Given the description of an element on the screen output the (x, y) to click on. 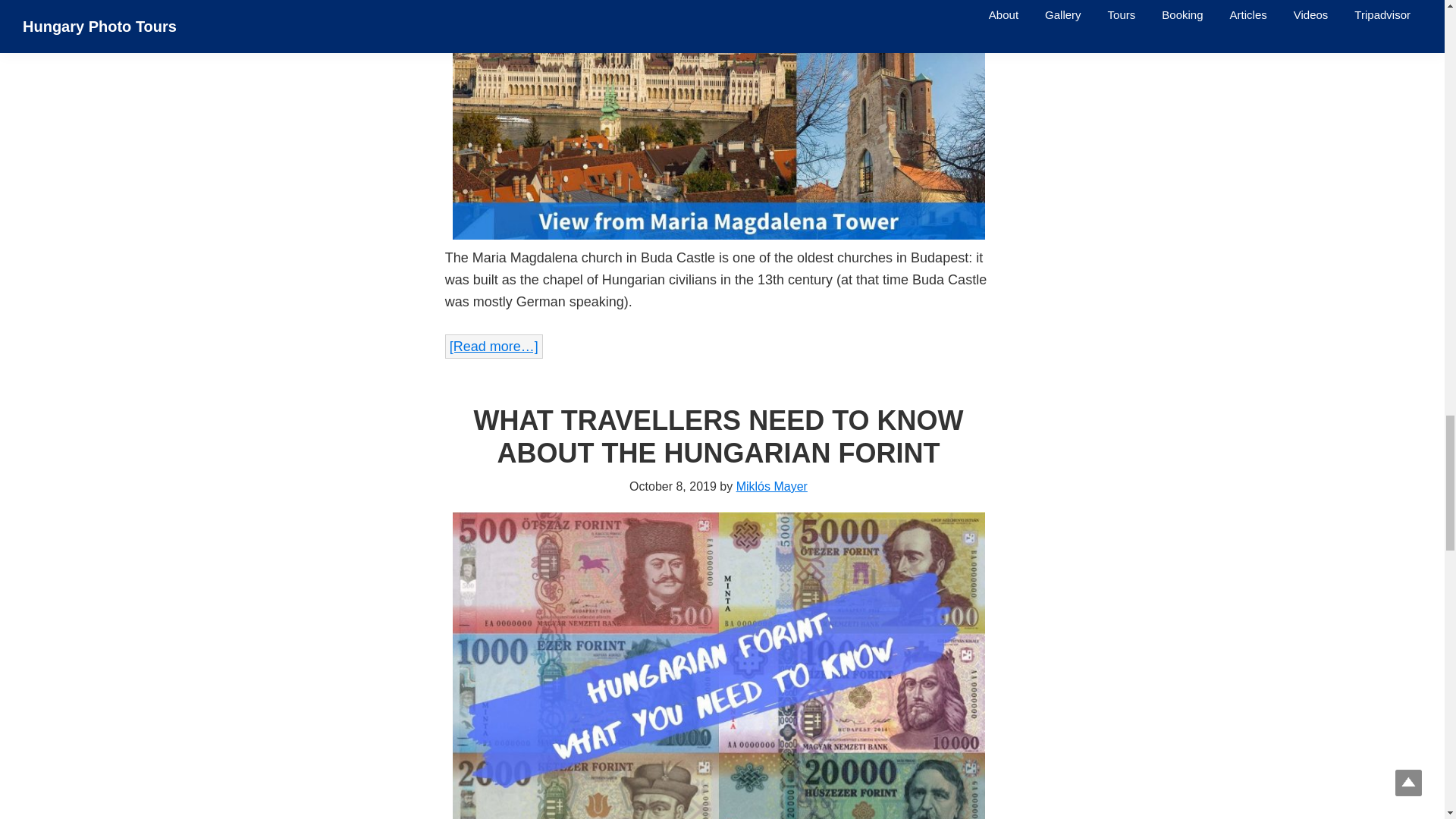
WHAT TRAVELLERS NEED TO KNOW ABOUT THE HUNGARIAN FORINT (717, 436)
